Given the description of an element on the screen output the (x, y) to click on. 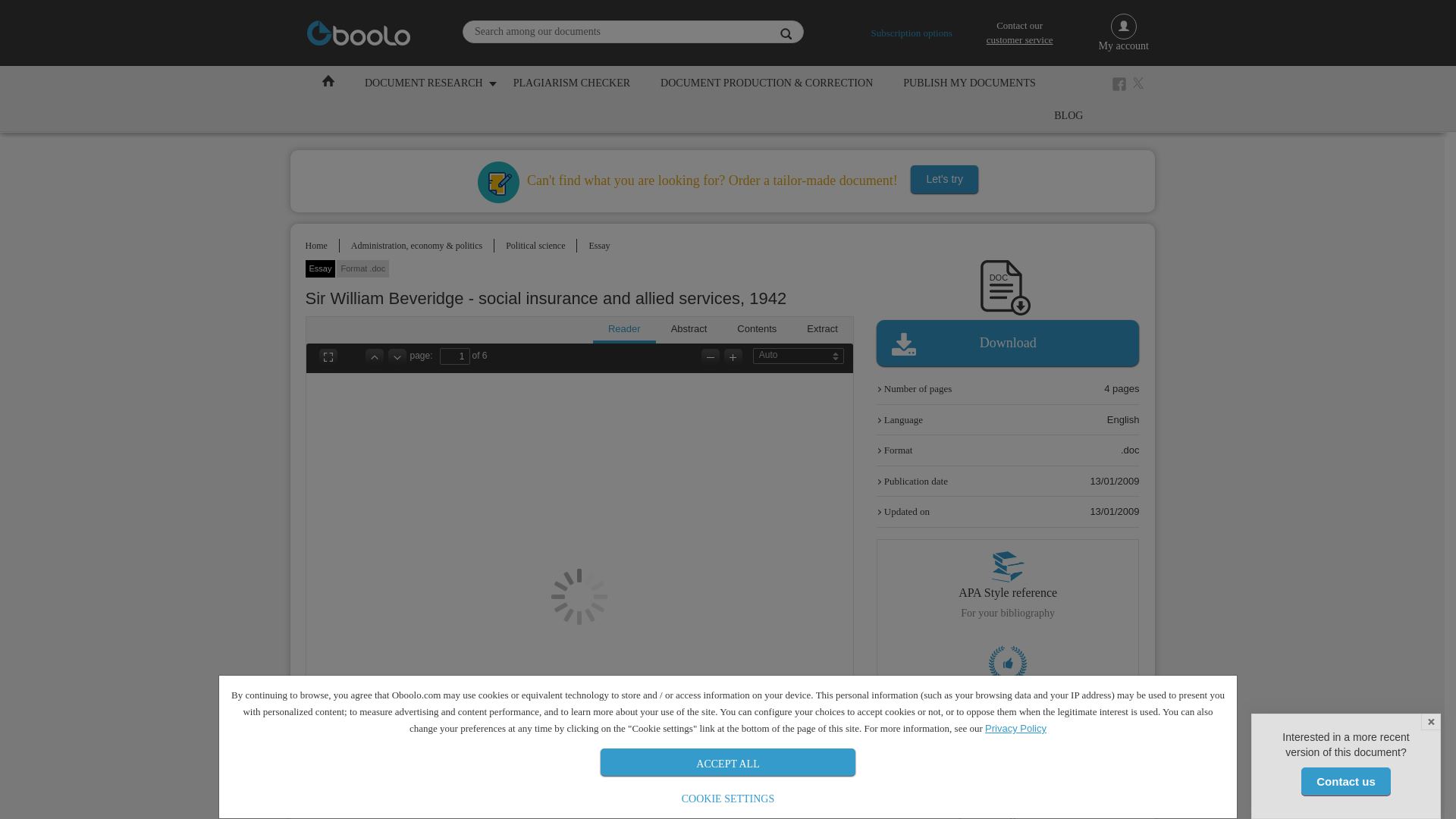
Oboolo: online search, publication and ordering of documents (358, 32)
1 (454, 356)
Download (1008, 343)
Subscription options (911, 32)
Follow us on Twitter (1141, 82)
DOCUMENT RESEARCH (423, 82)
PLAGIARISM CHECKER (571, 82)
OUR SUBSCRIPTION OPTIONS (887, 115)
Let's try (944, 179)
Contact us (1345, 781)
